Given the description of an element on the screen output the (x, y) to click on. 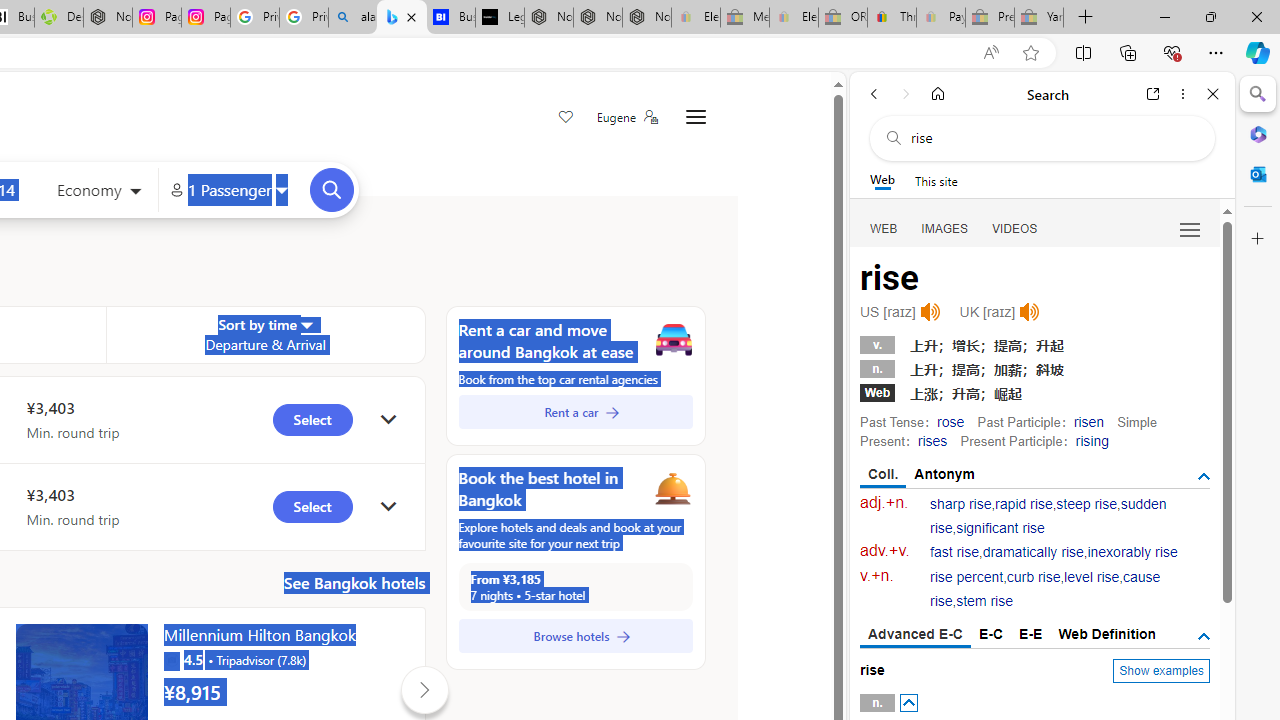
Antonym (945, 473)
Preferences (1189, 228)
rose (950, 421)
sharp rise (961, 503)
E-E (1030, 633)
